Given the description of an element on the screen output the (x, y) to click on. 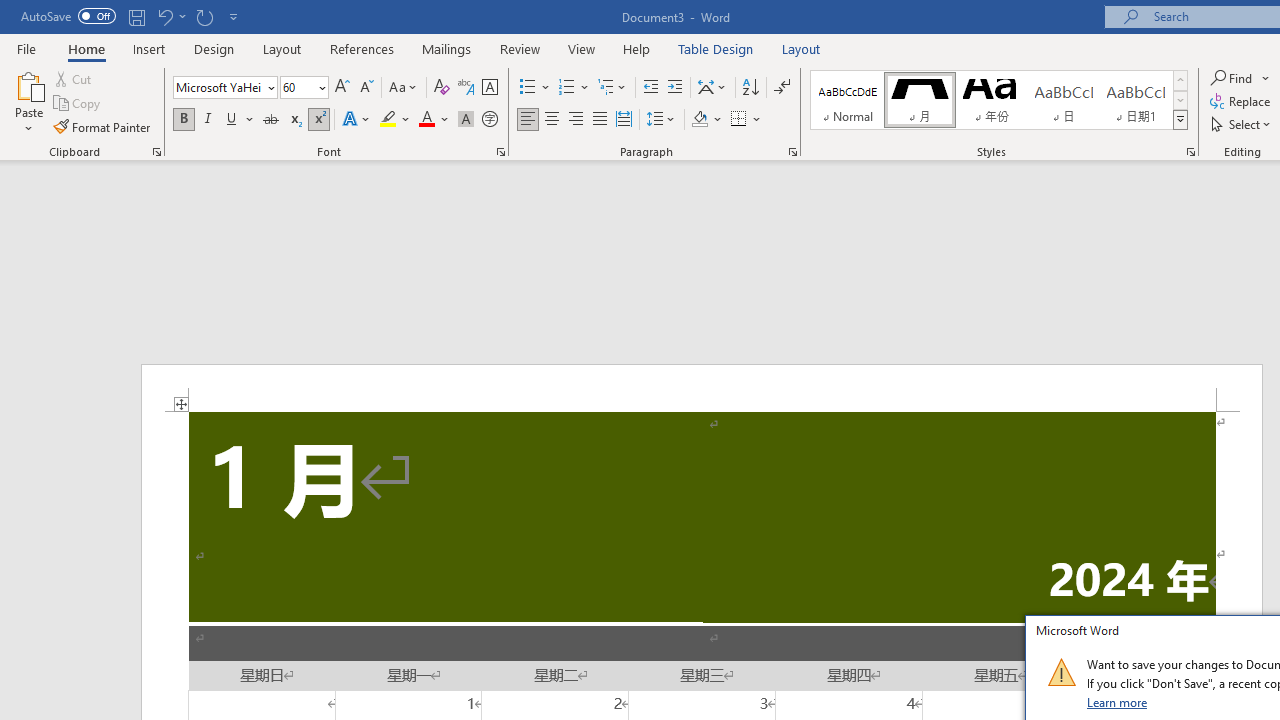
Justify (599, 119)
Font Color (434, 119)
Header -Section 1- (701, 387)
Cut (73, 78)
Change Case (404, 87)
Align Right (575, 119)
Multilevel List (613, 87)
Text Highlight Color Yellow (388, 119)
